Given the description of an element on the screen output the (x, y) to click on. 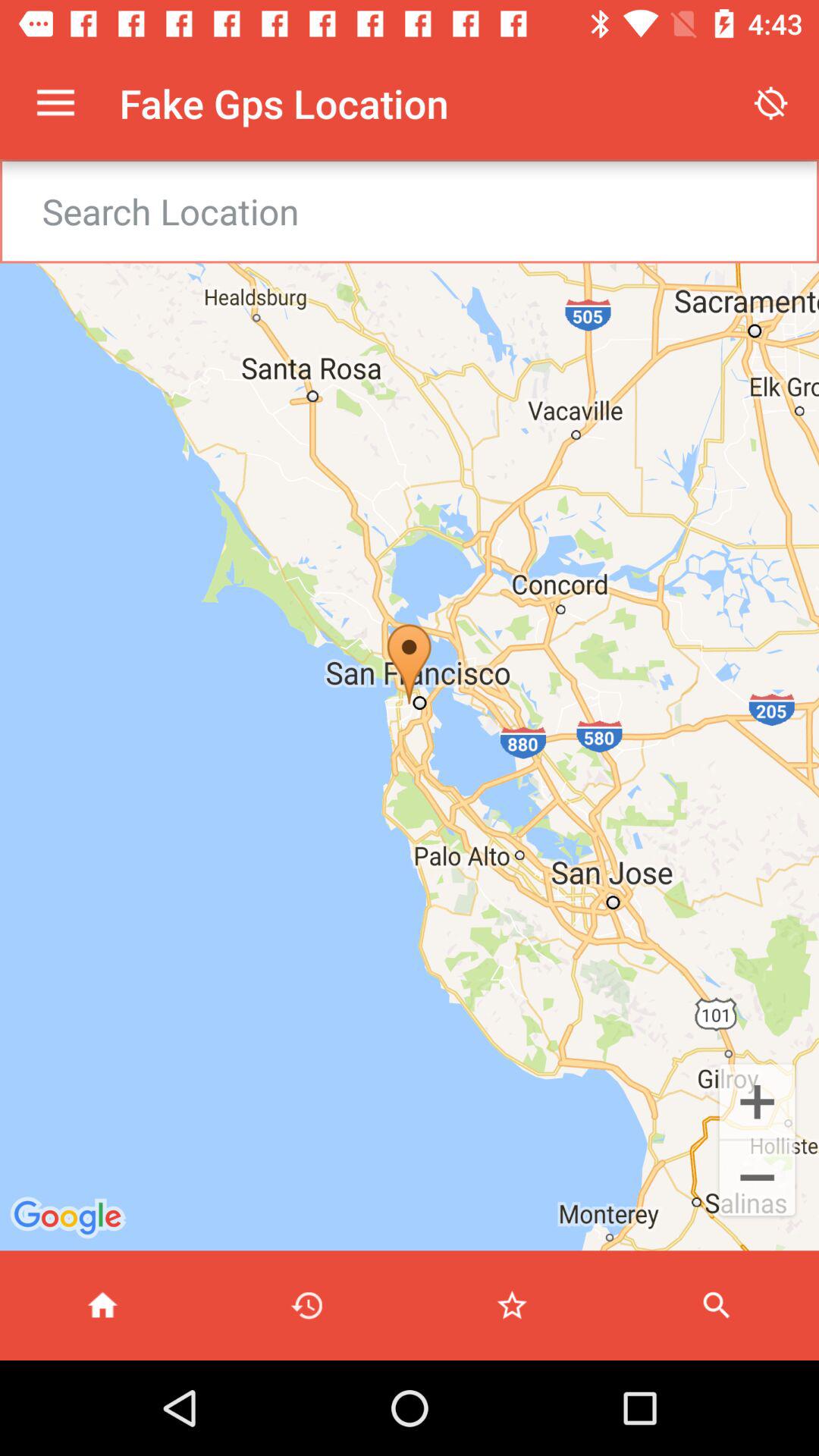
press item at the center (409, 704)
